Given the description of an element on the screen output the (x, y) to click on. 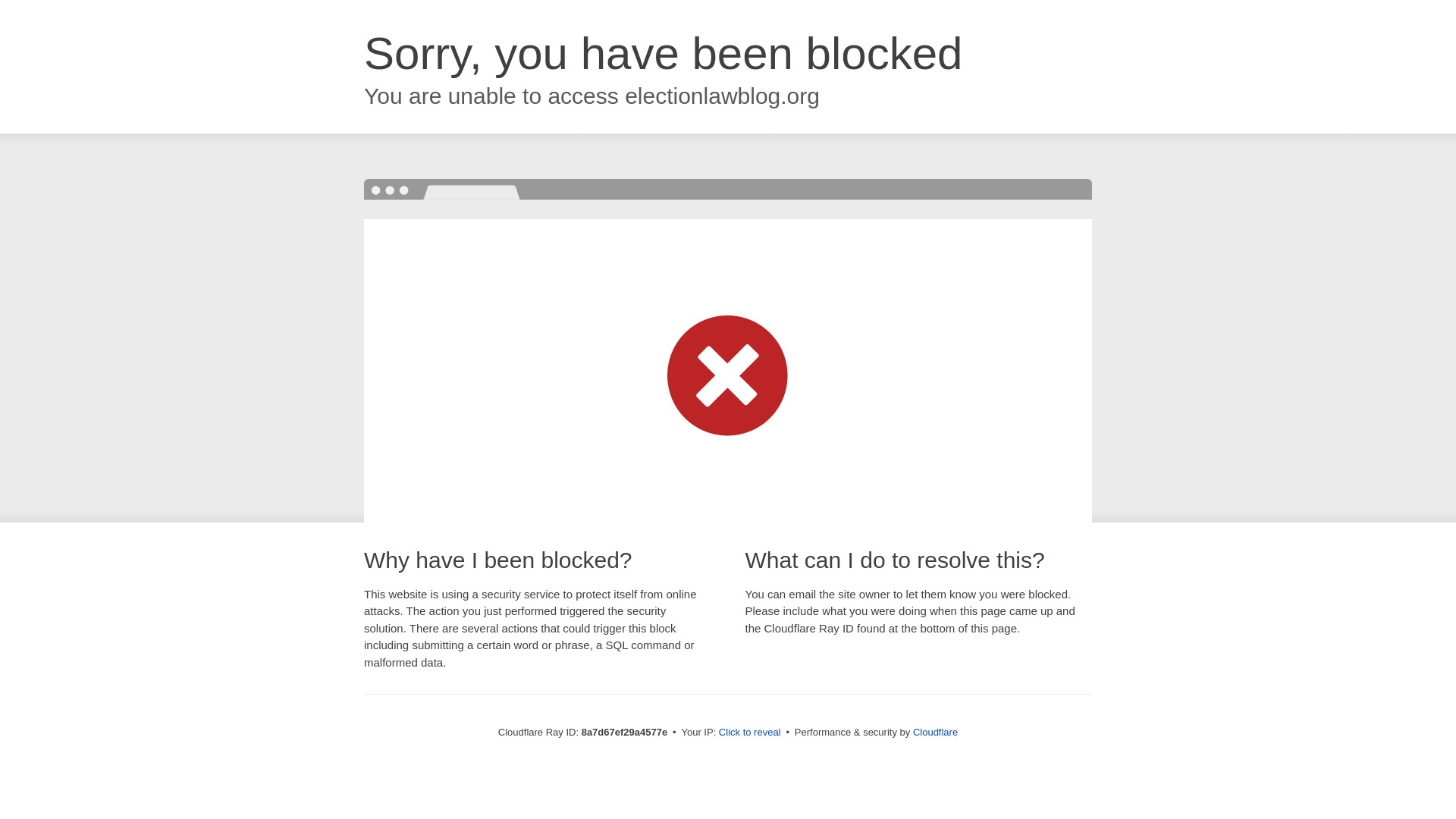
Click to reveal (749, 732)
Cloudflare (935, 731)
